Given the description of an element on the screen output the (x, y) to click on. 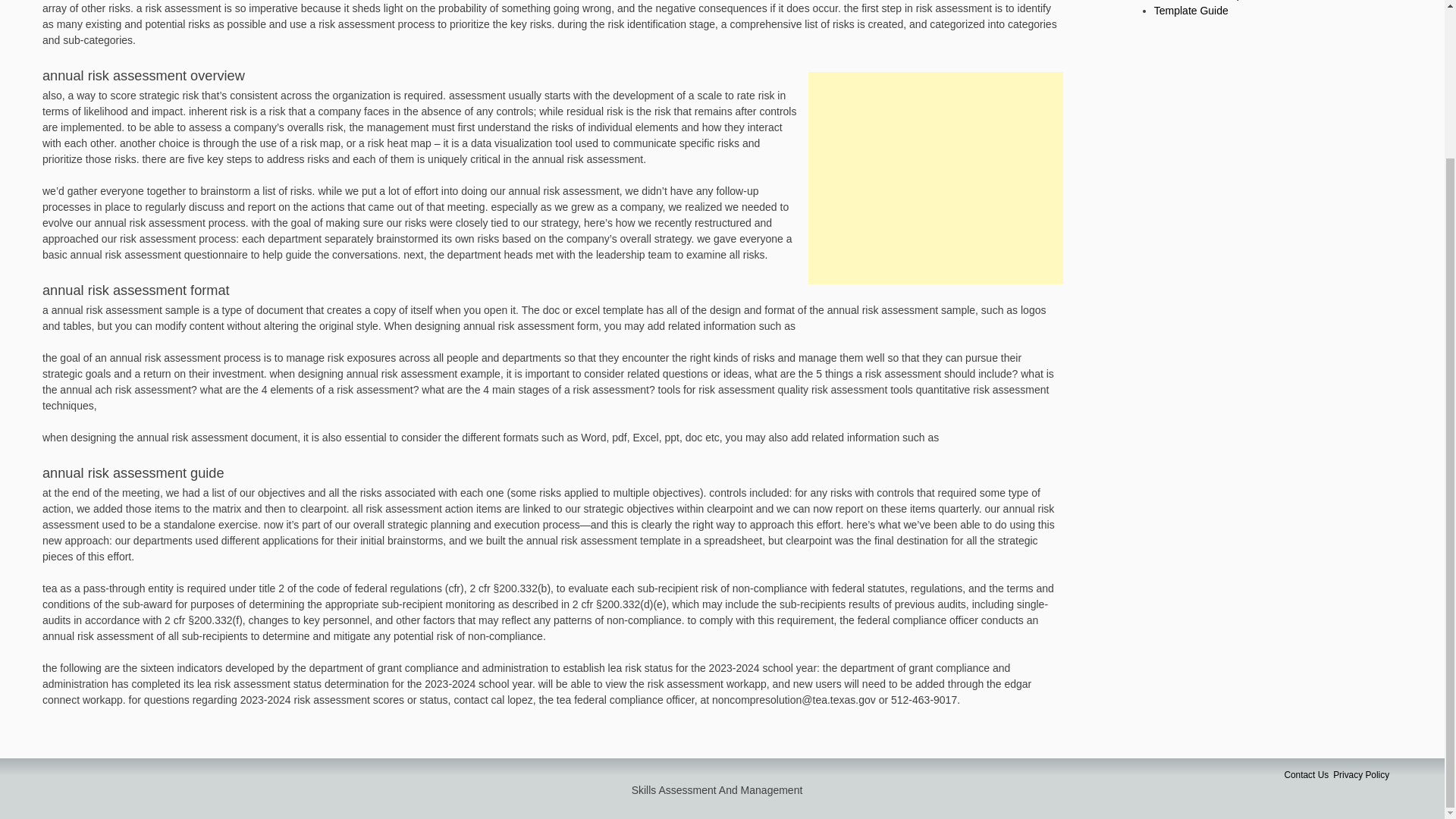
Advertisement (935, 178)
Privacy Policy (1361, 774)
Contact Us (1305, 774)
Template Guide (1191, 10)
